Given the description of an element on the screen output the (x, y) to click on. 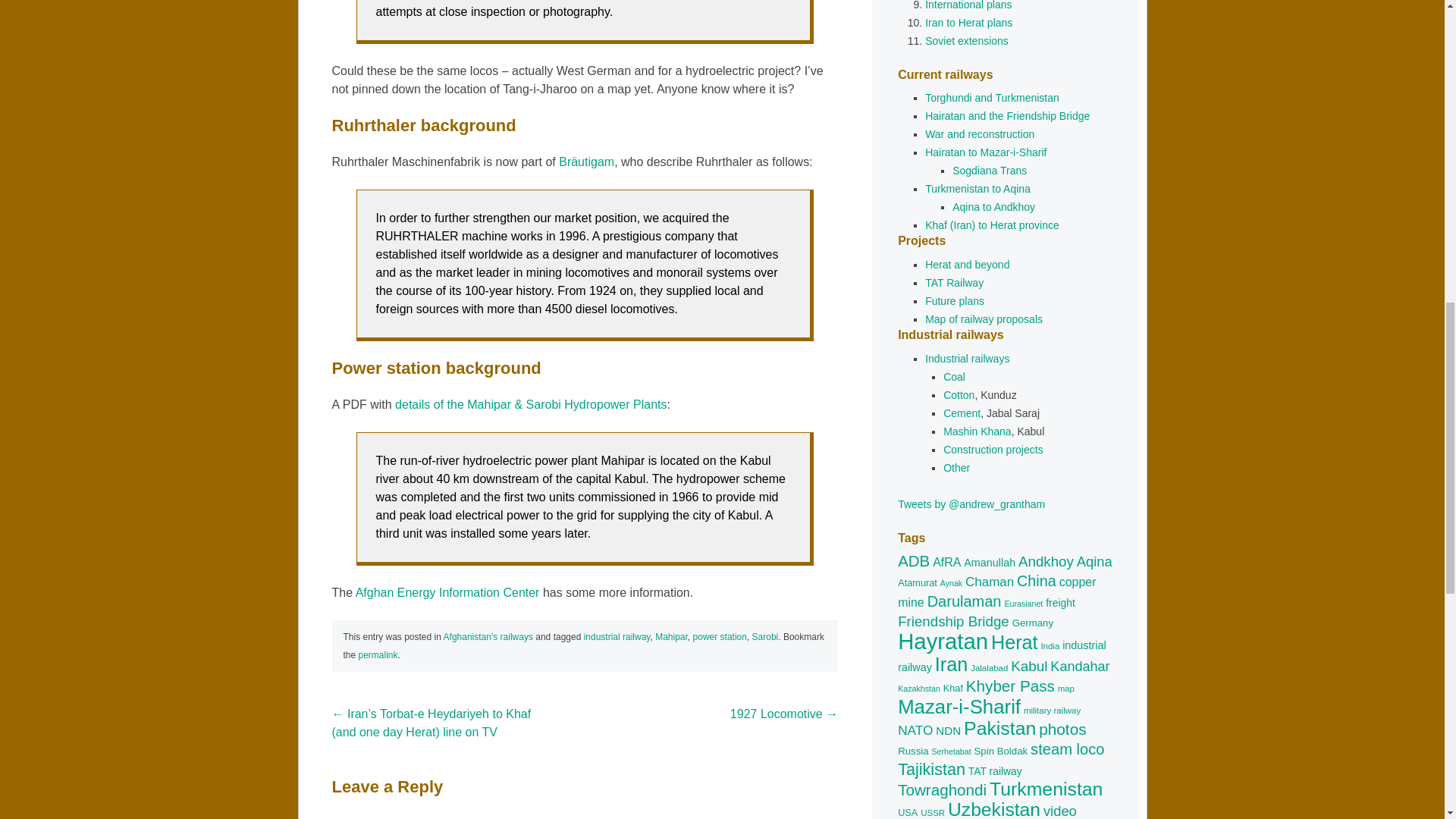
Mahipar (671, 636)
International plans (967, 5)
power station (719, 636)
Afghan Energy Information Center (447, 592)
Afghanistan's railways (488, 636)
Sarobi (765, 636)
industrial railway (616, 636)
International plans (967, 5)
permalink (377, 655)
